Given the description of an element on the screen output the (x, y) to click on. 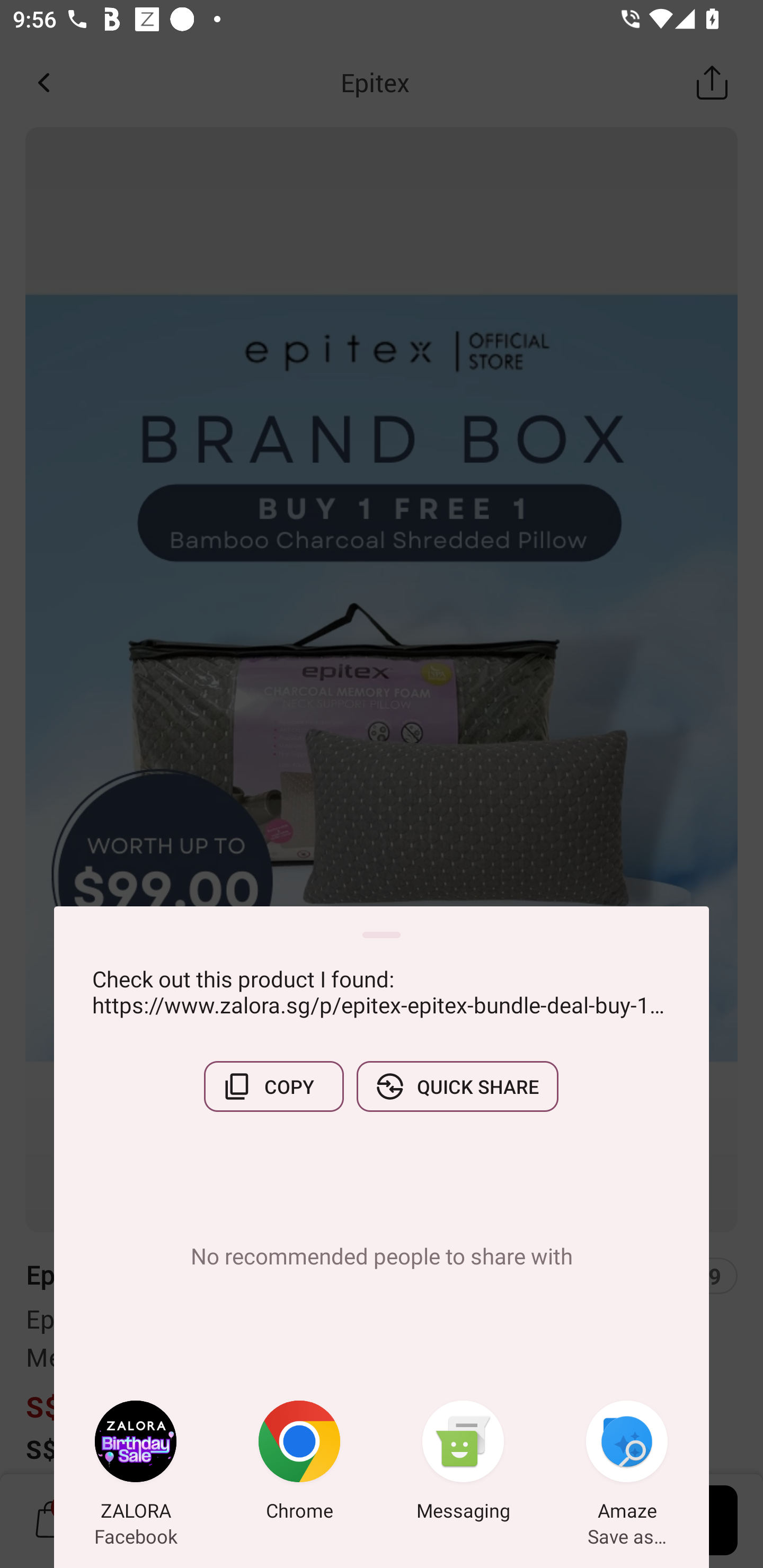
COPY (273, 1086)
QUICK SHARE (457, 1086)
ZALORA Facebook (135, 1463)
Chrome (299, 1463)
Messaging (463, 1463)
Amaze Save as… (626, 1463)
